Given the description of an element on the screen output the (x, y) to click on. 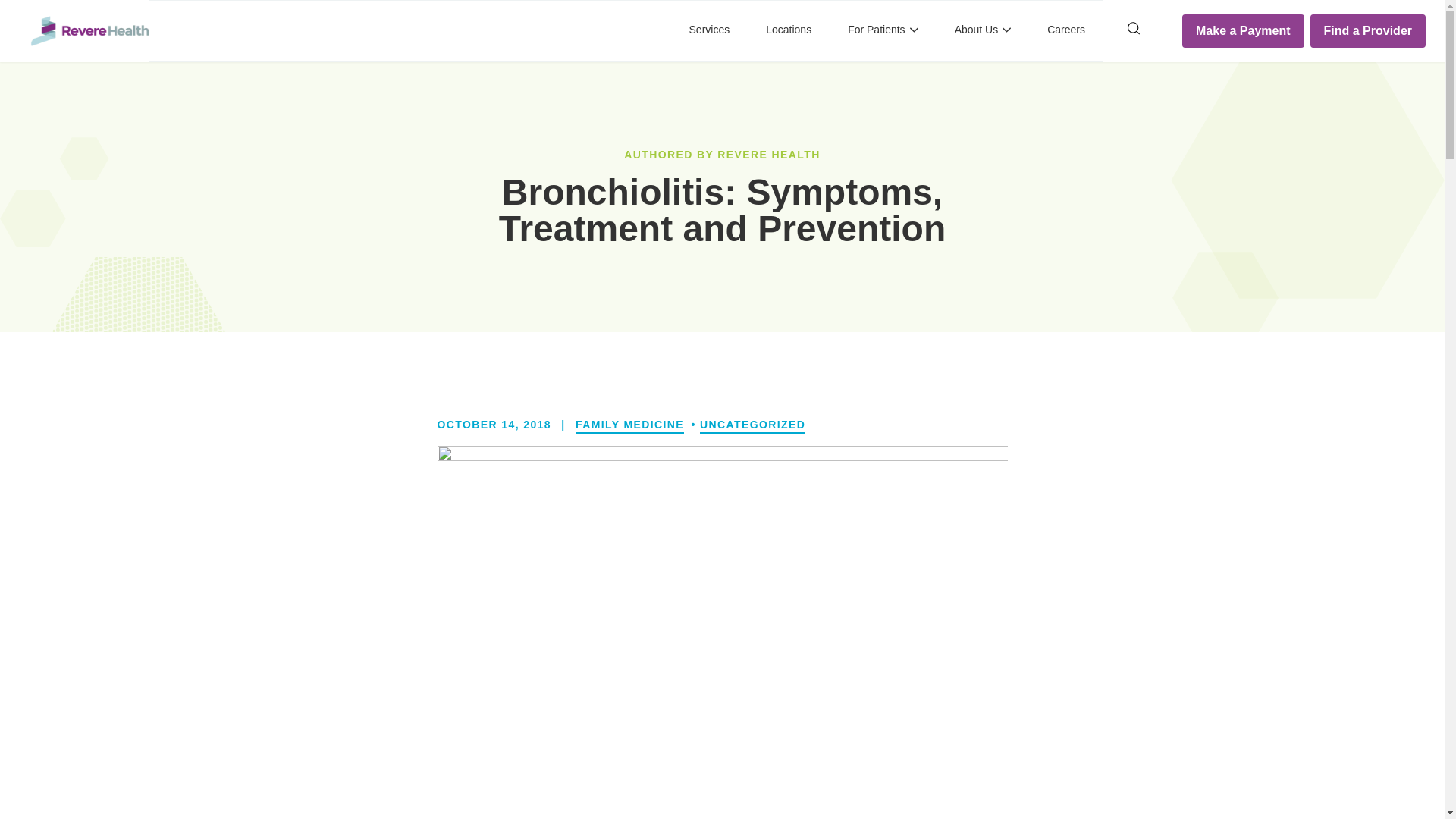
FAMILY MEDICINE (629, 425)
UNCATEGORIZED (752, 425)
Locations (787, 30)
For Patients (882, 30)
Make a Payment (1243, 30)
Services (709, 30)
Careers (1065, 30)
About Us (983, 30)
Find a Provider (1367, 30)
